Given the description of an element on the screen output the (x, y) to click on. 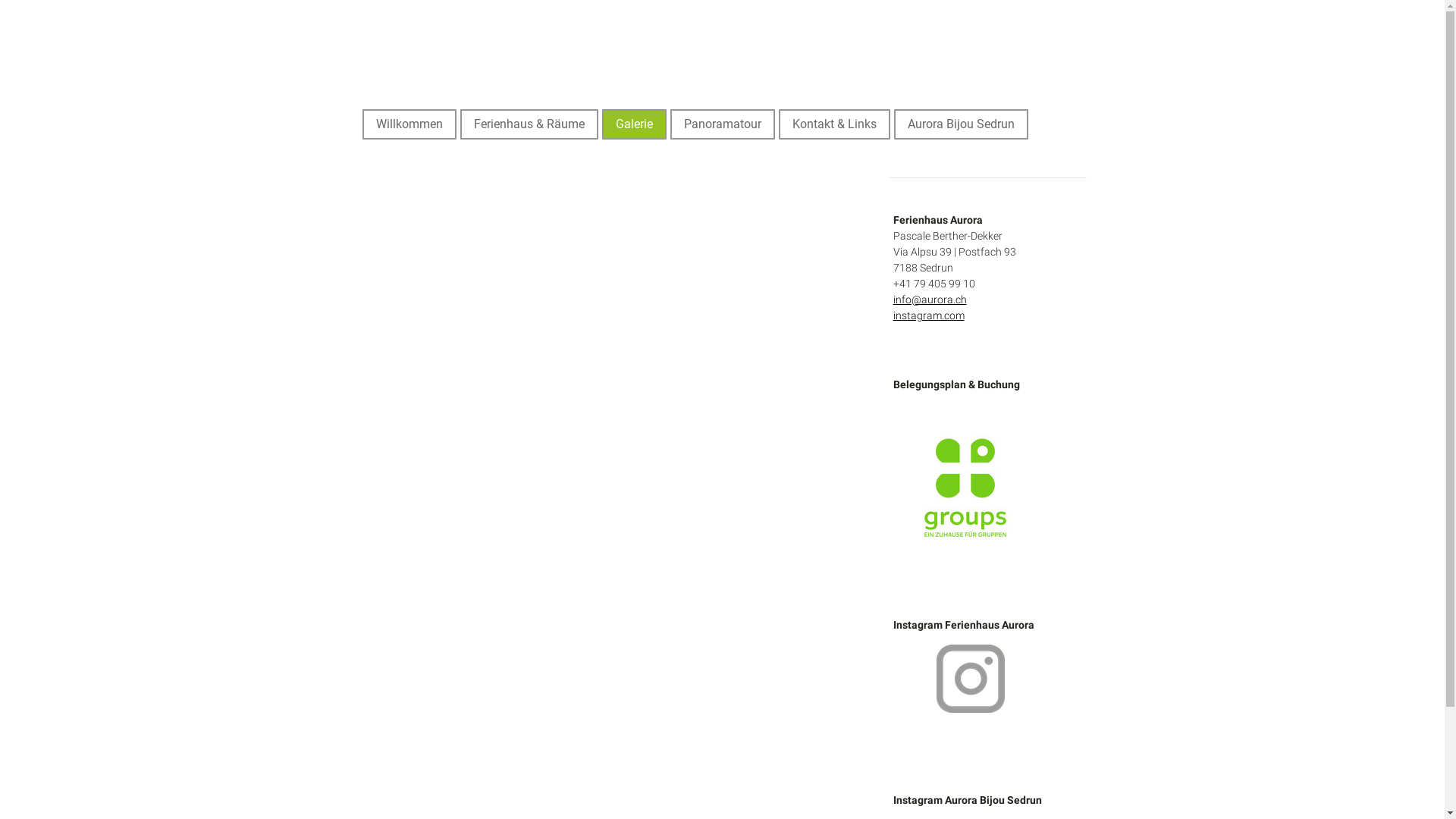
info@aurora.ch Element type: text (929, 299)
Aurora Bijou Sedrun Element type: text (960, 124)
Galerie Element type: text (634, 124)
Panoramatour Element type: text (722, 124)
Willkommen Element type: text (409, 124)
Kontakt & Links Element type: text (833, 124)
instagram.com Element type: text (928, 315)
